Given the description of an element on the screen output the (x, y) to click on. 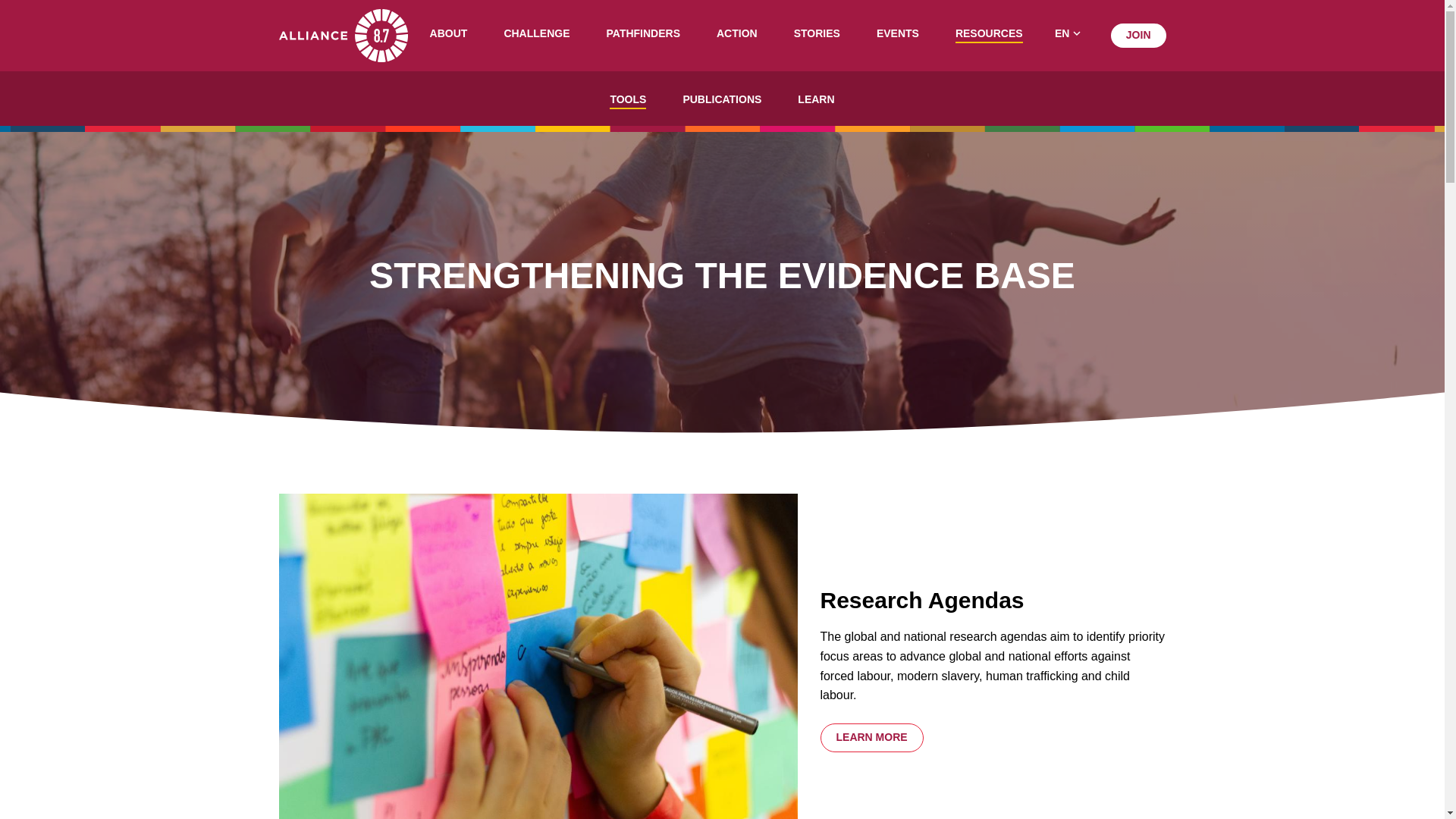
RESOURCES (989, 35)
PATHFINDERS (643, 35)
ABOUT (448, 35)
ACTION (736, 35)
JOIN (1138, 35)
TOOLS (628, 101)
CHALLENGE (536, 35)
PUBLICATIONS (721, 101)
LEARN MORE (872, 737)
STORIES (816, 35)
LEARN (815, 101)
EVENTS (897, 35)
